Given the description of an element on the screen output the (x, y) to click on. 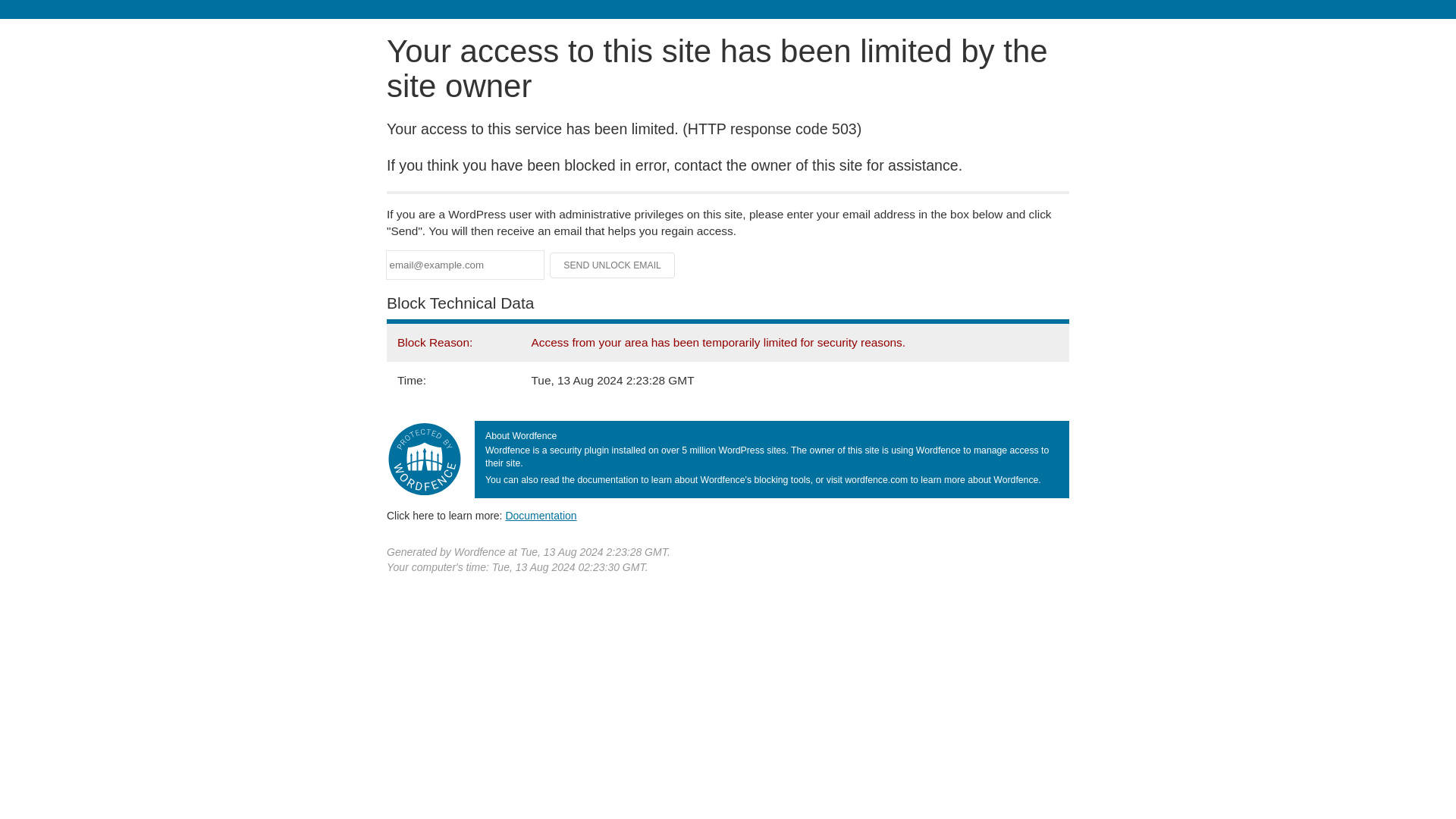
Documentation (540, 515)
Send Unlock Email (612, 265)
Send Unlock Email (612, 265)
